Given the description of an element on the screen output the (x, y) to click on. 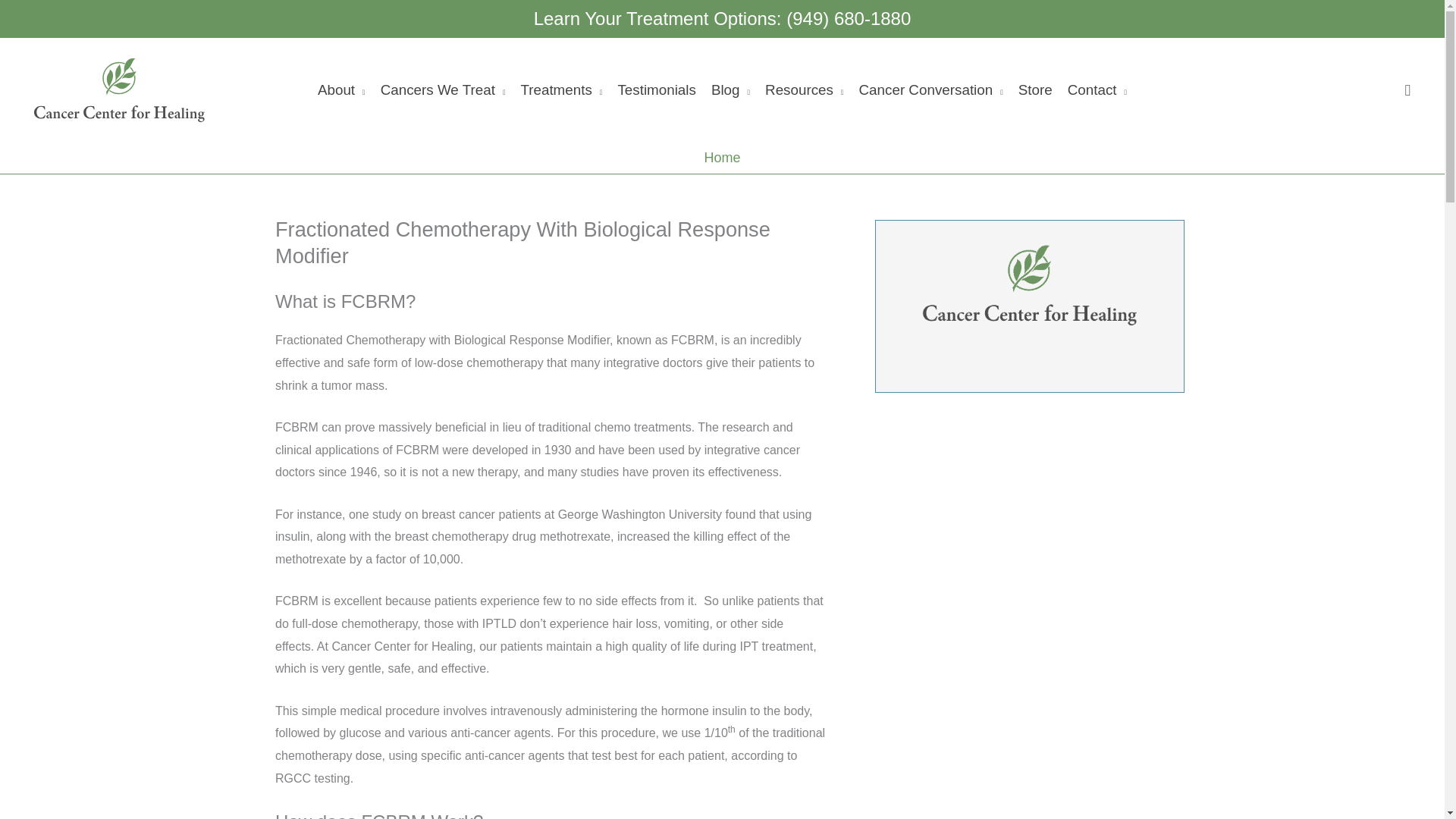
About (341, 89)
Ccfh-Green-Logo (1028, 283)
Cancers We Treat (442, 89)
